Given the description of an element on the screen output the (x, y) to click on. 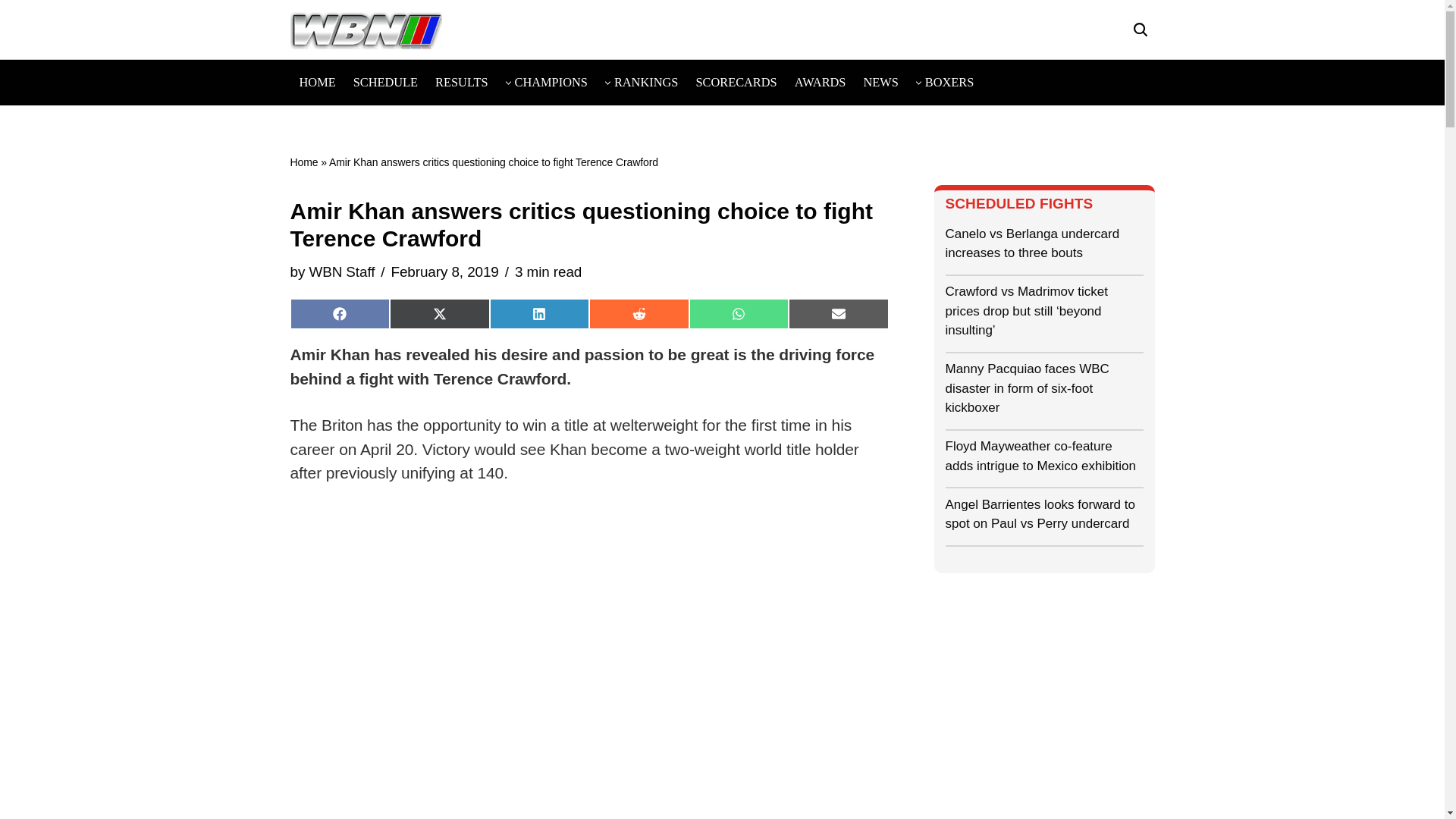
RANKINGS (646, 81)
SCHEDULE (385, 81)
SCORECARDS (735, 81)
RESULTS (461, 81)
BOXERS (949, 81)
CHAMPIONS (551, 81)
NEWS (880, 81)
Skip to content (11, 31)
Posts by WBN Staff (341, 271)
AWARDS (819, 81)
